Given the description of an element on the screen output the (x, y) to click on. 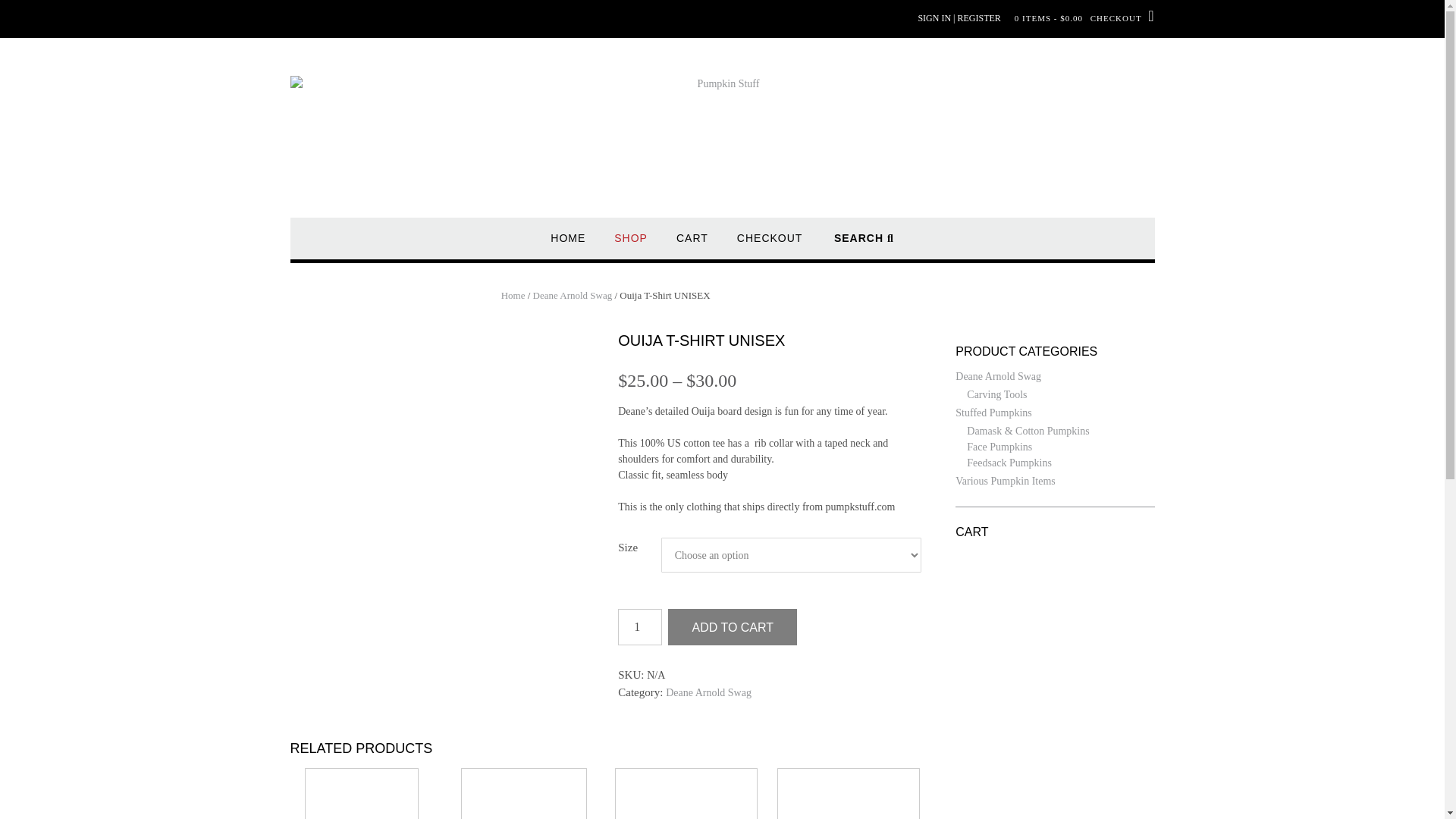
Home (512, 295)
CART (692, 244)
CHECKOUT (769, 244)
Deane Arnold Swag (708, 692)
Pumpkin Stuff (721, 137)
HOME (567, 244)
Face Pumpkins (999, 446)
1 (639, 627)
Deane Arnold Swag (998, 376)
SEARCH (863, 244)
Deane Arnold Swag (572, 295)
ADD TO CART (732, 627)
SHOP (630, 244)
Feedsack Pumpkins (1008, 462)
Carving Tools (996, 394)
